Given the description of an element on the screen output the (x, y) to click on. 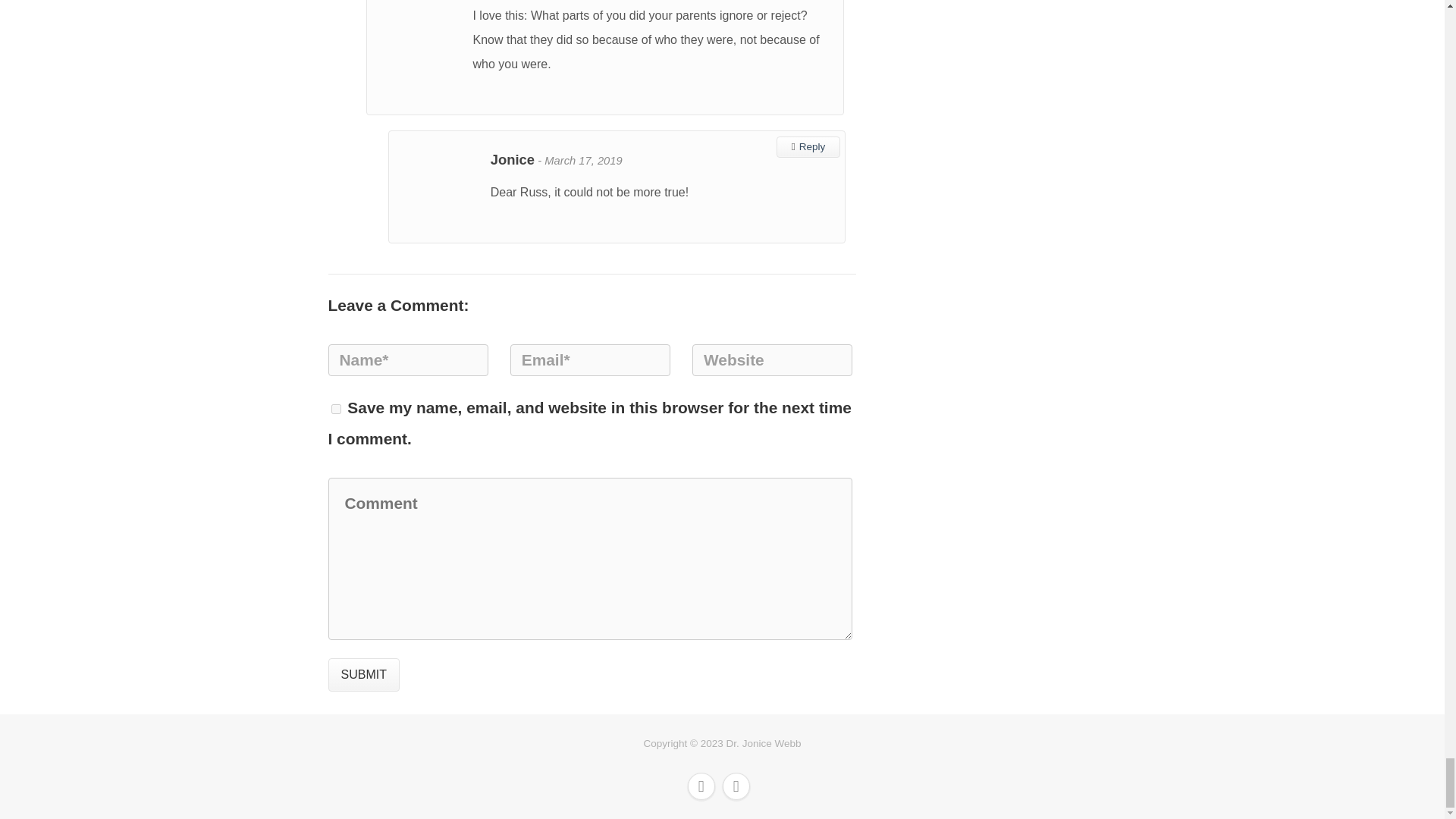
yes (335, 409)
SUBMIT (362, 674)
